Given the description of an element on the screen output the (x, y) to click on. 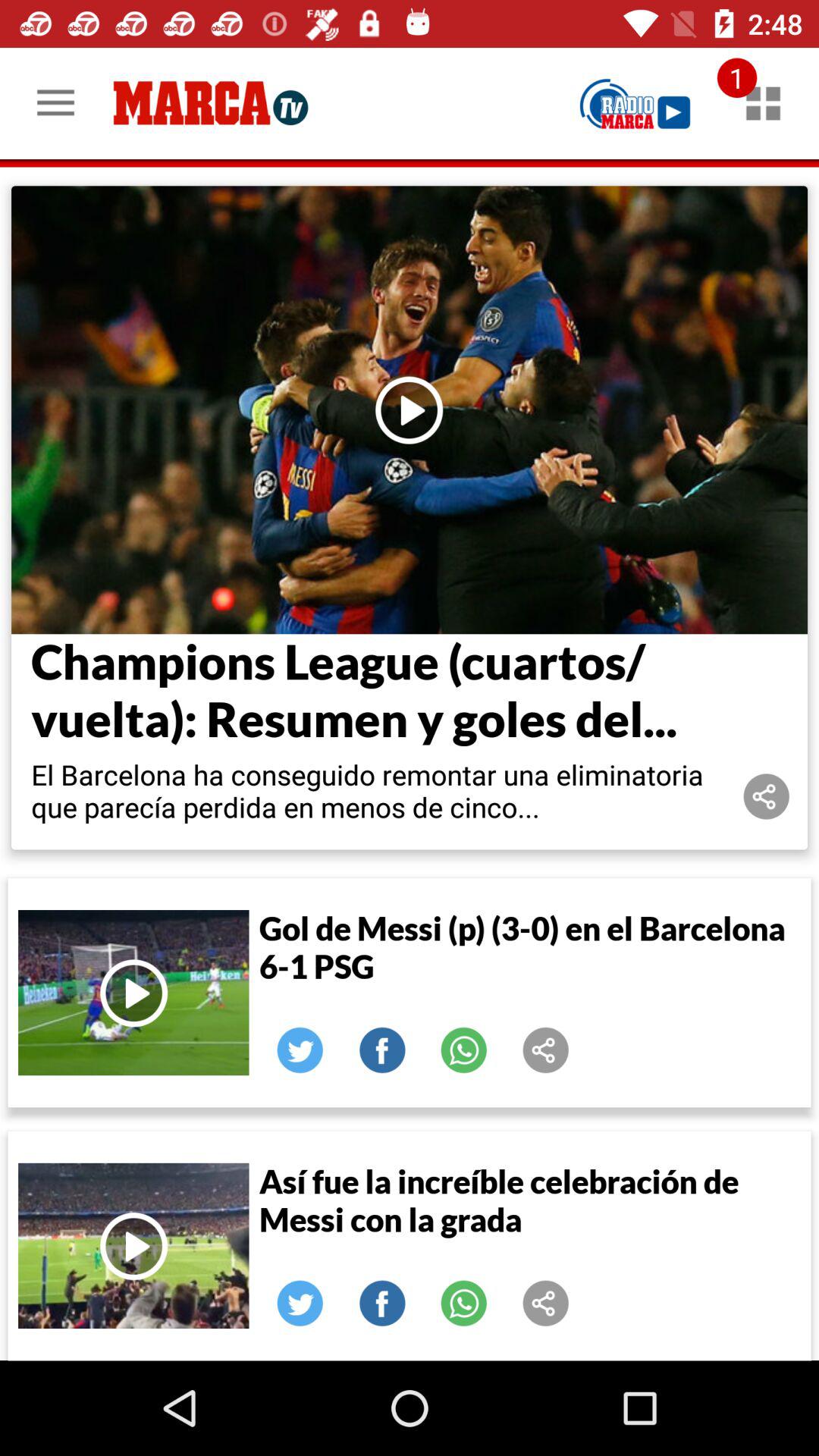
share (545, 1050)
